Given the description of an element on the screen output the (x, y) to click on. 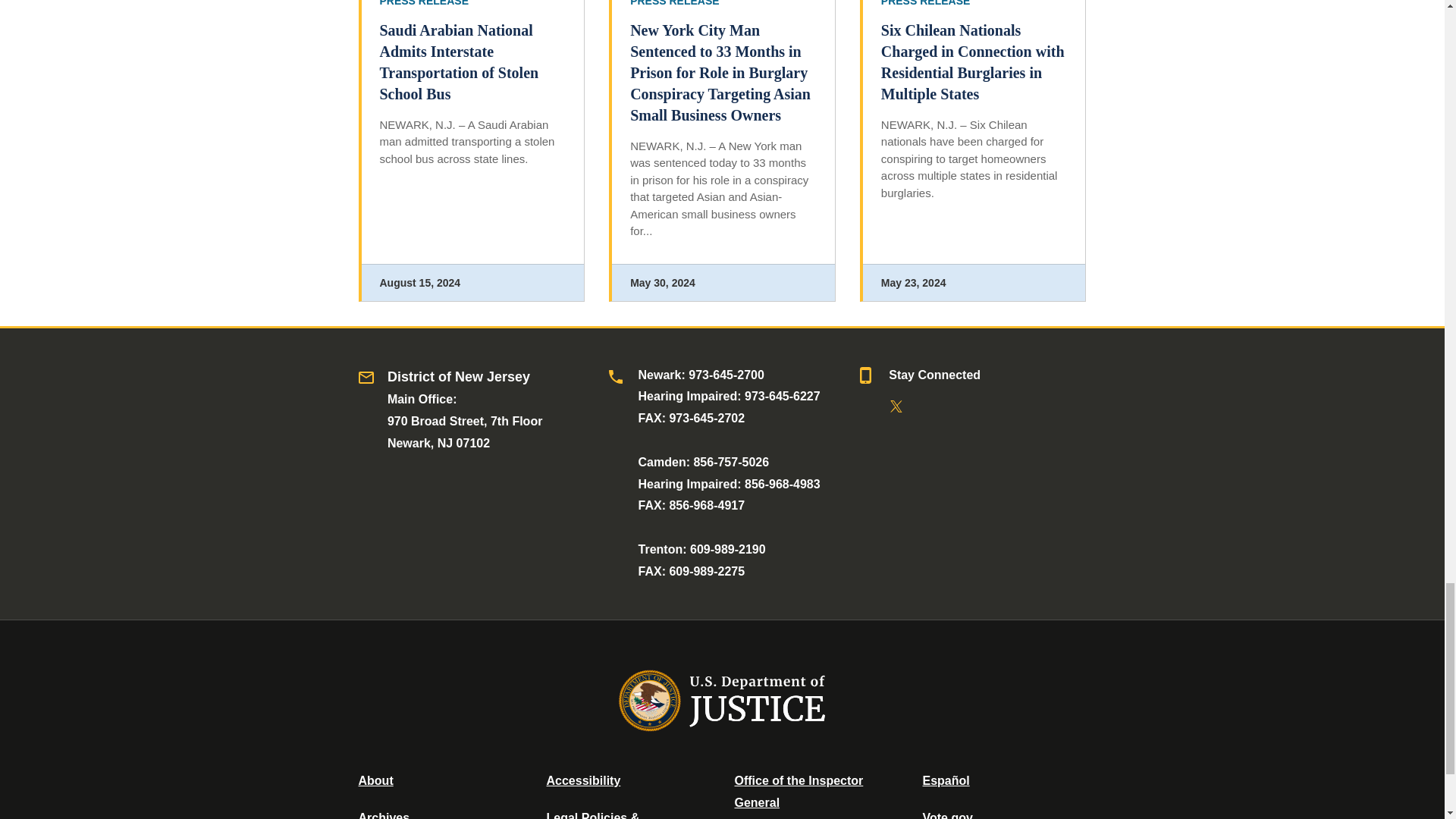
Accessibility Statement (583, 780)
About DOJ (375, 780)
Legal Policies and Disclaimers (592, 815)
Department of Justice Archive (383, 815)
